Given the description of an element on the screen output the (x, y) to click on. 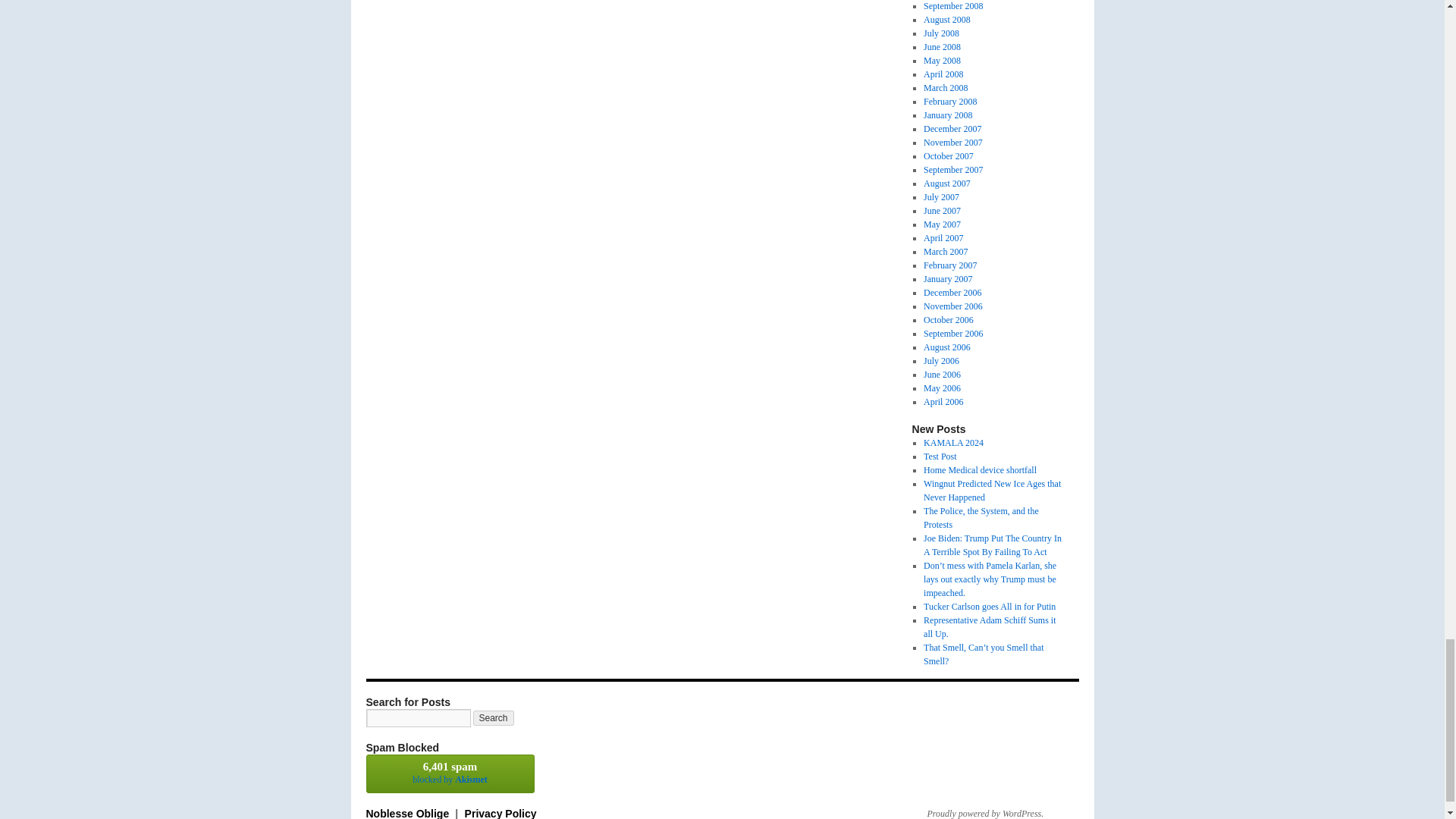
Search (493, 717)
